Given the description of an element on the screen output the (x, y) to click on. 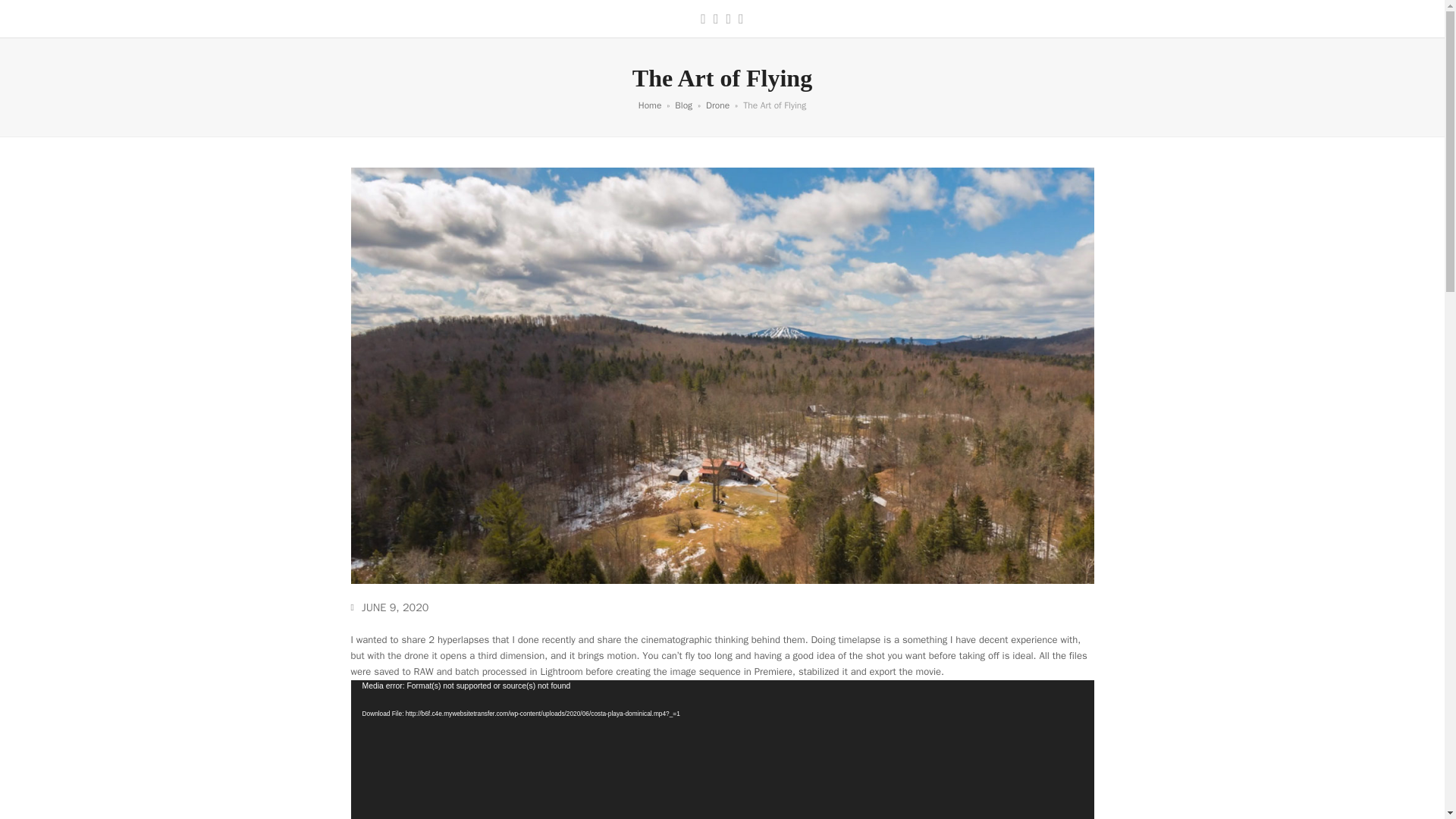
Blog (684, 105)
Drone (717, 105)
Home (650, 105)
